Given the description of an element on the screen output the (x, y) to click on. 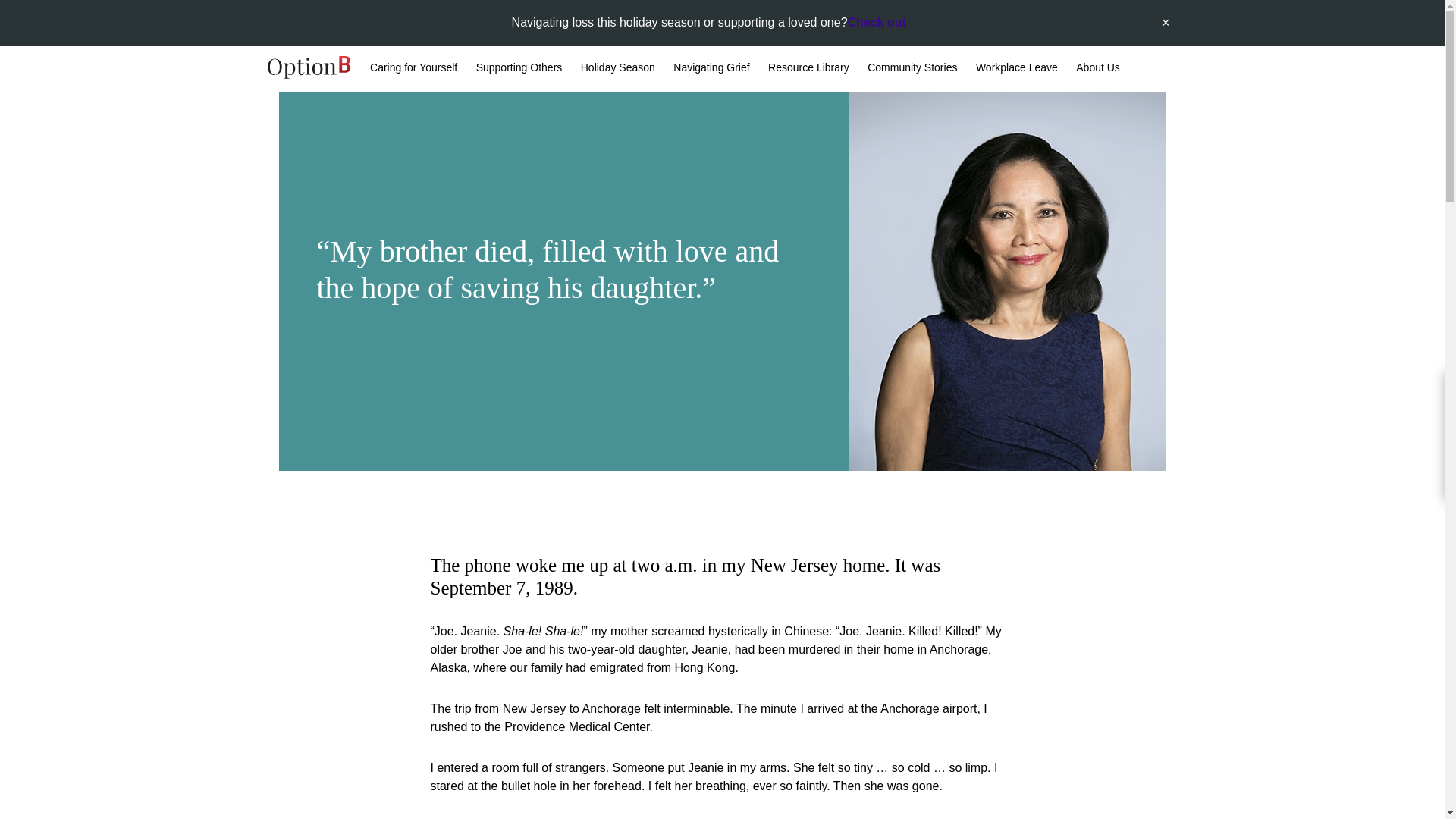
Workplace Leave (1016, 68)
Resource Library (808, 68)
Navigating Grief (710, 68)
Community Stories (911, 68)
Caring for Yourself (413, 68)
Supporting Others (519, 68)
Check out (876, 22)
Holiday Season (617, 68)
About Us (1097, 68)
